Given the description of an element on the screen output the (x, y) to click on. 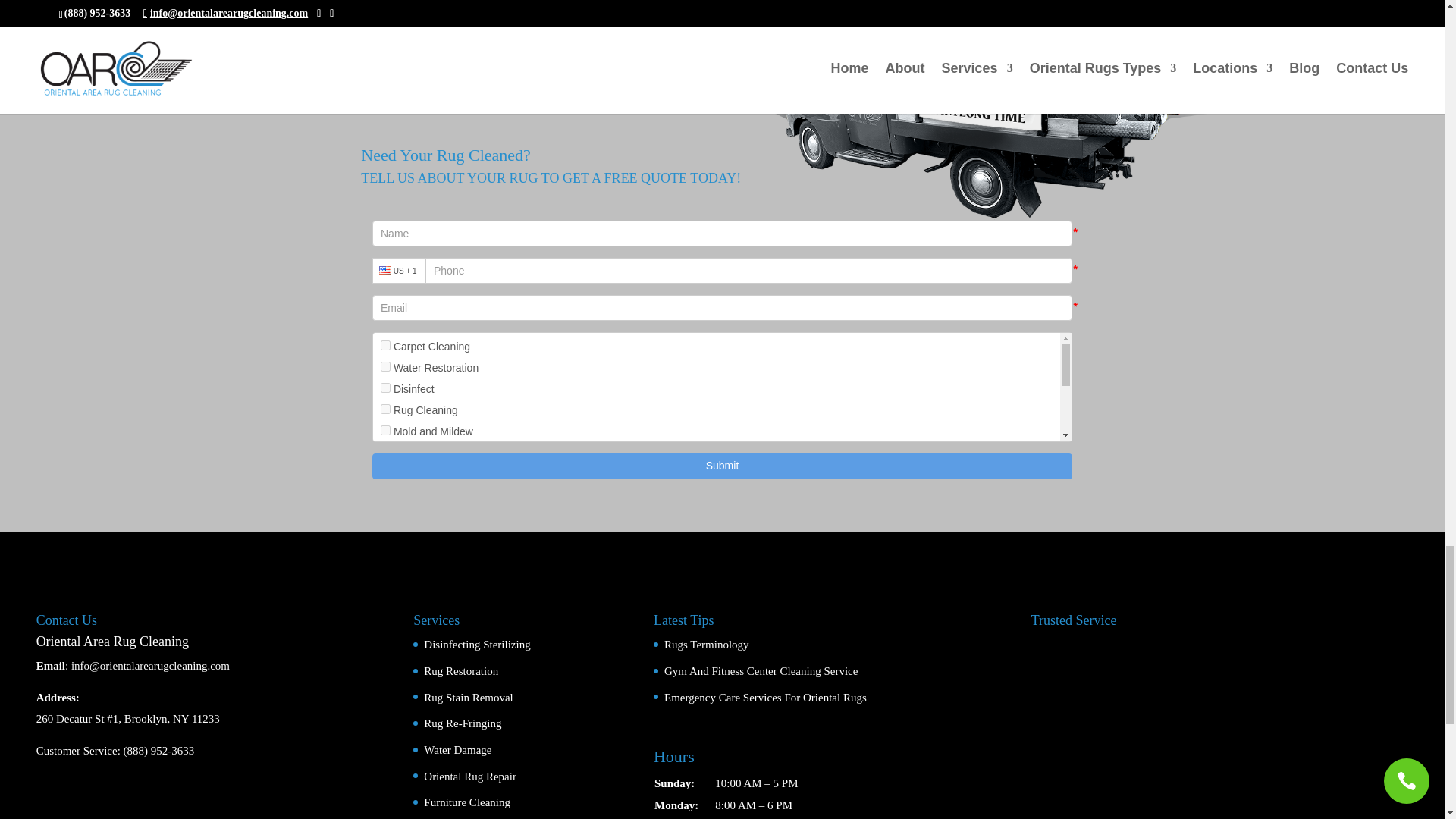
oarc-truck1. (978, 123)
